Given the description of an element on the screen output the (x, y) to click on. 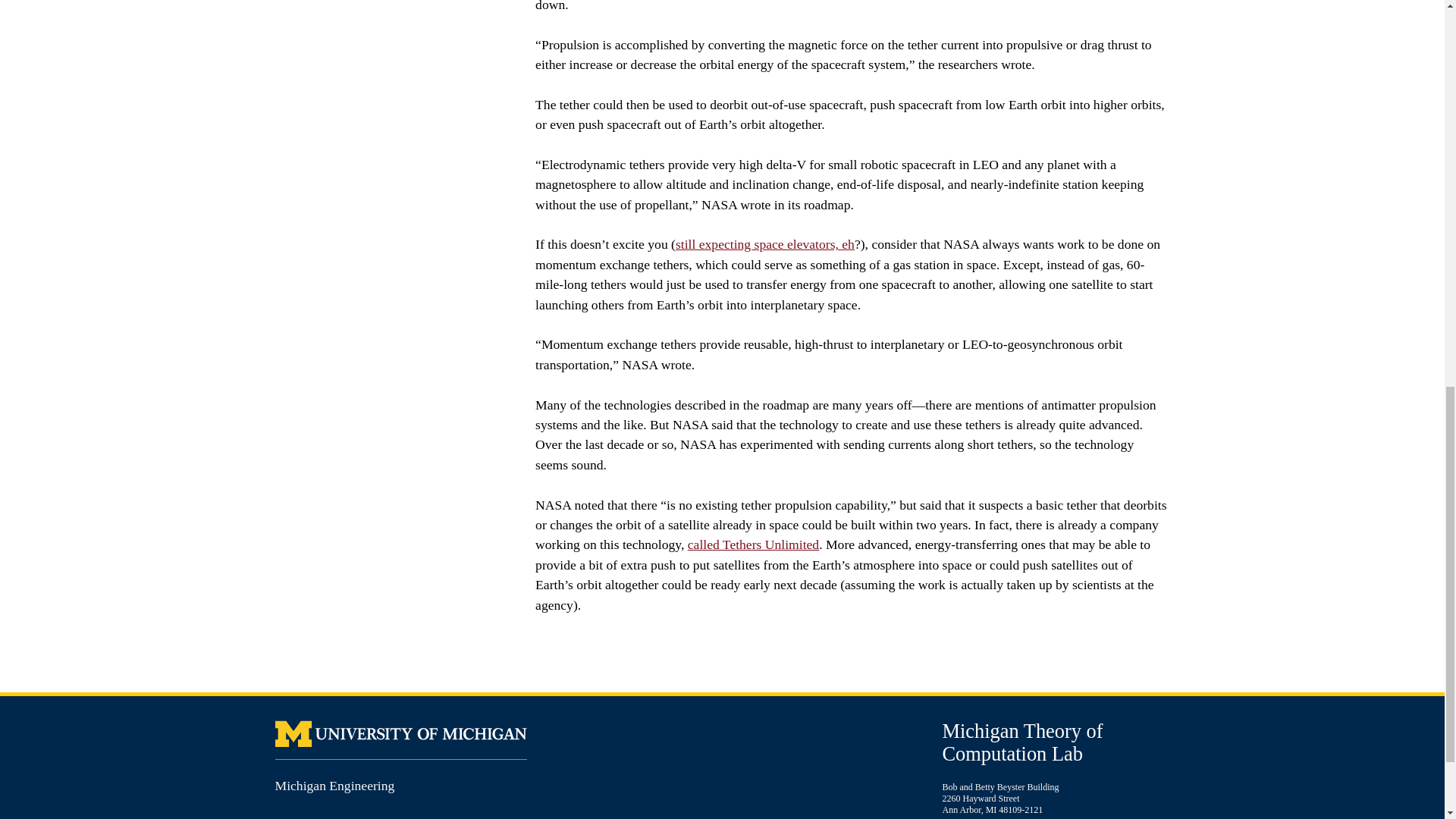
Michigan Engineering (334, 785)
called Tethers Unlimited (752, 544)
Michigan Theory of Computation Lab (1022, 741)
still expecting space elevators, eh (764, 243)
